Given the description of an element on the screen output the (x, y) to click on. 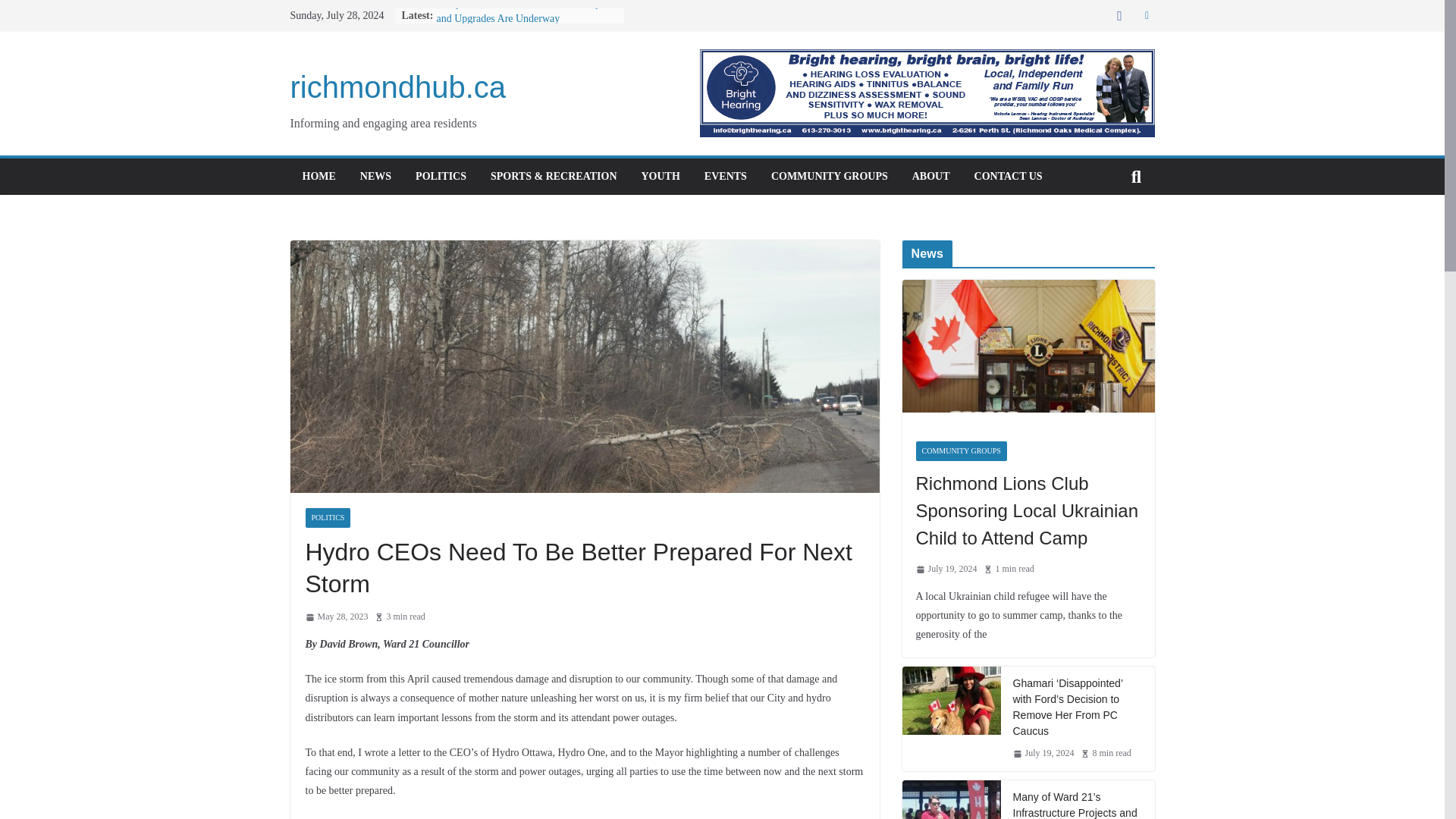
POLITICS (439, 176)
ABOUT (931, 176)
May 28, 2023 (336, 617)
HOME (317, 176)
POLITICS (327, 517)
CONTACT US (1008, 176)
9:01 pm (336, 617)
richmondhub.ca (397, 87)
richmondhub.ca (397, 87)
YOUTH (660, 176)
COMMUNITY GROUPS (829, 176)
NEWS (375, 176)
EVENTS (725, 176)
